Given the description of an element on the screen output the (x, y) to click on. 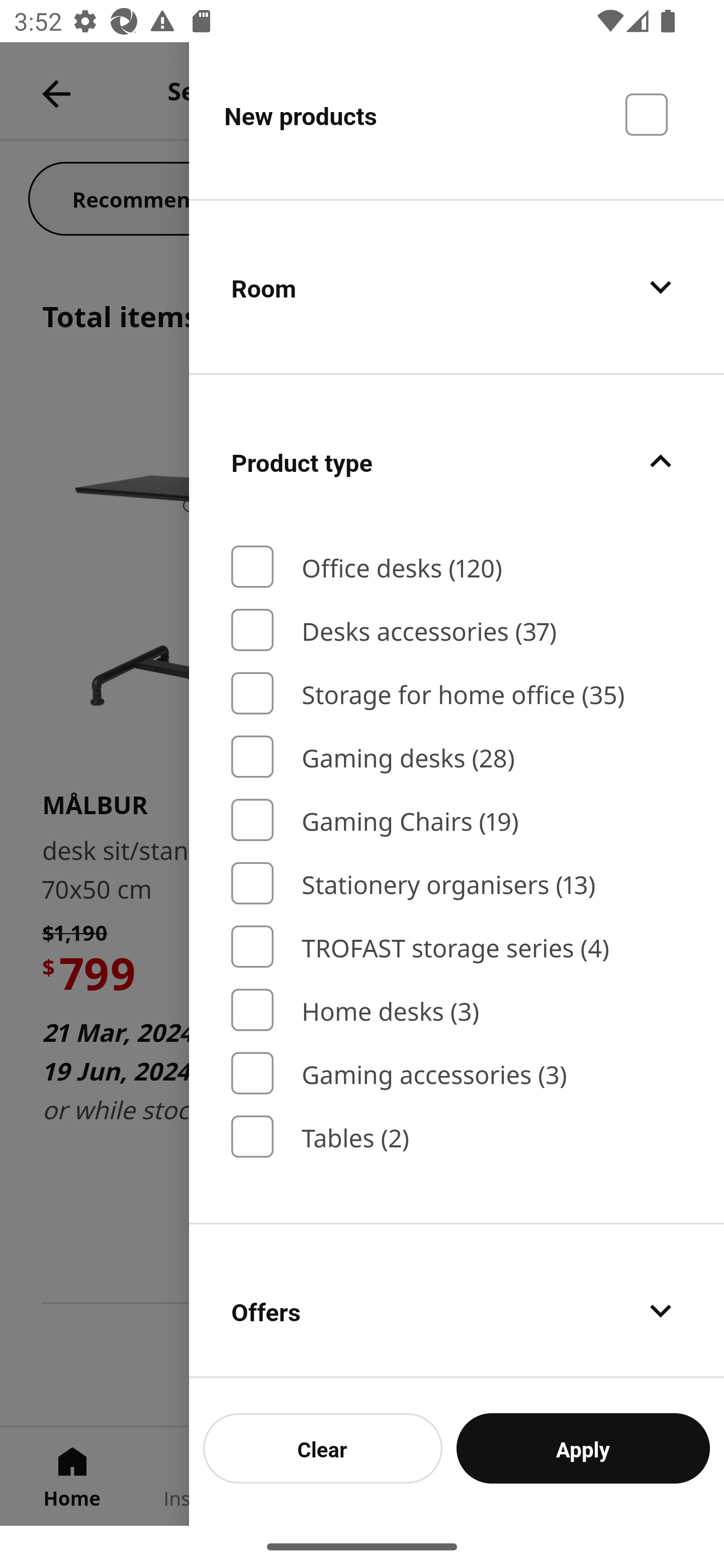
New products (456, 120)
Room (456, 286)
Product type (456, 460)
Office desks (120) (456, 566)
Desks accessories (37) (456, 629)
Storage for home office (35) (456, 693)
Gaming desks (28) (456, 756)
Gaming Chairs (19) (456, 820)
Stationery organisers (13) (456, 883)
TROFAST storage series (4) (456, 946)
Home desks (3) (456, 1010)
Gaming accessories (3) (456, 1073)
Tables (2) (456, 1136)
Offers (456, 1301)
Clear (322, 1447)
Apply (583, 1447)
